Given the description of an element on the screen output the (x, y) to click on. 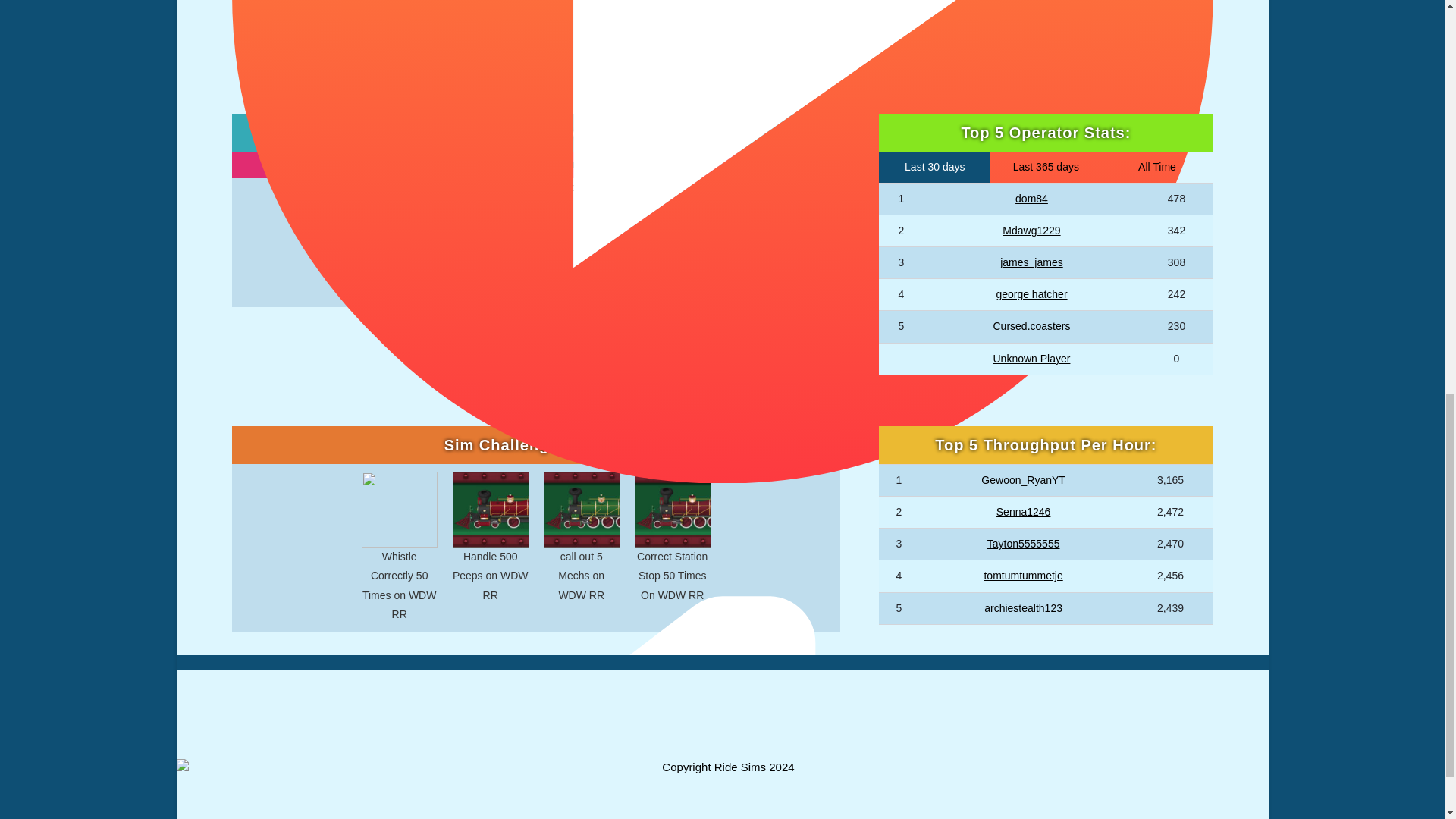
archiestealth123 (1023, 607)
Tayton5555555 (1023, 543)
dom84 (1031, 198)
tomtumtummetje (1023, 575)
Cursed.coasters (1031, 326)
Senna1246 (1023, 511)
george hatcher (1031, 294)
Unknown Player (1031, 358)
Mdawg1229 (1031, 230)
